Given the description of an element on the screen output the (x, y) to click on. 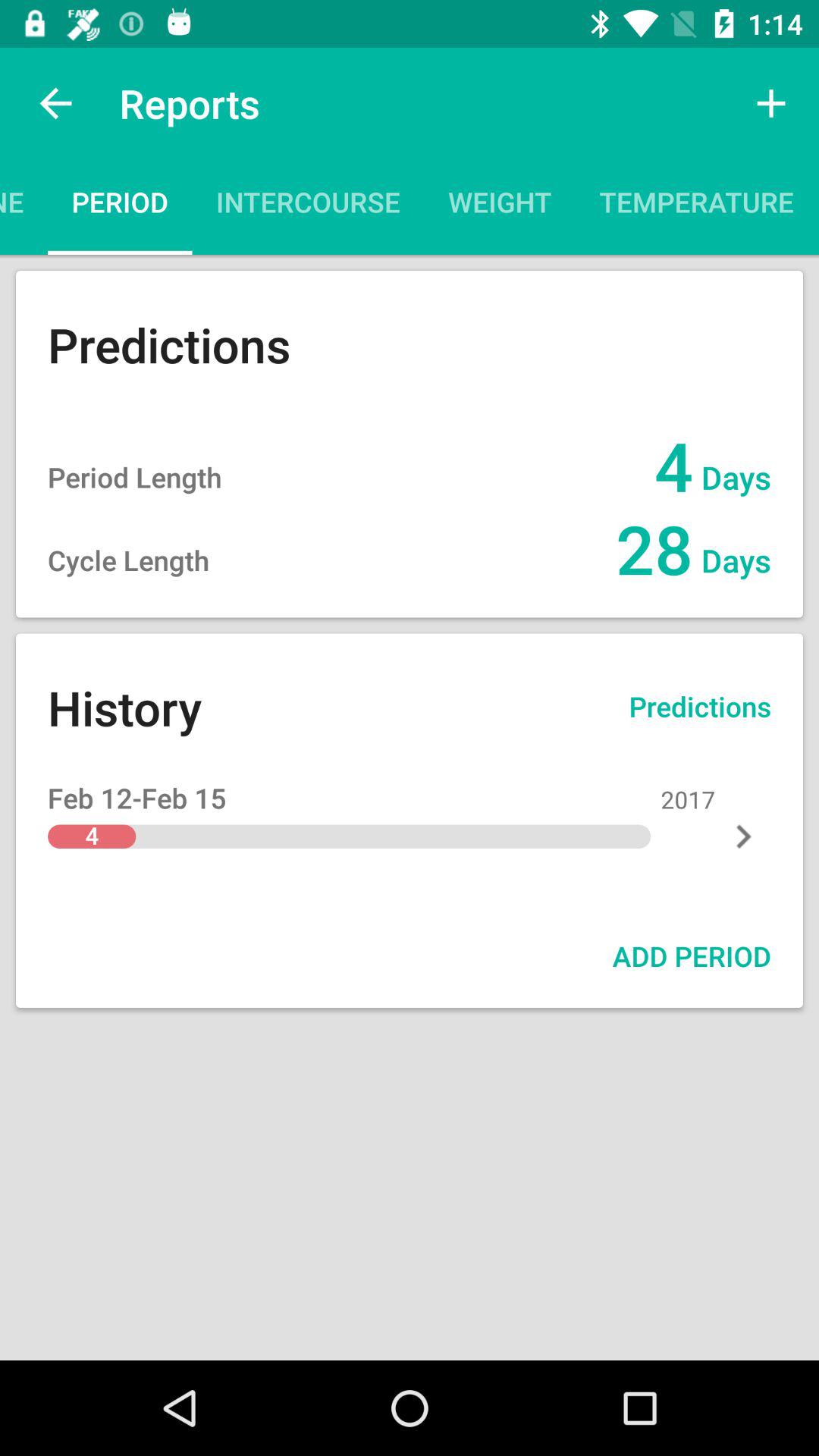
jump until the timeline (23, 206)
